Given the description of an element on the screen output the (x, y) to click on. 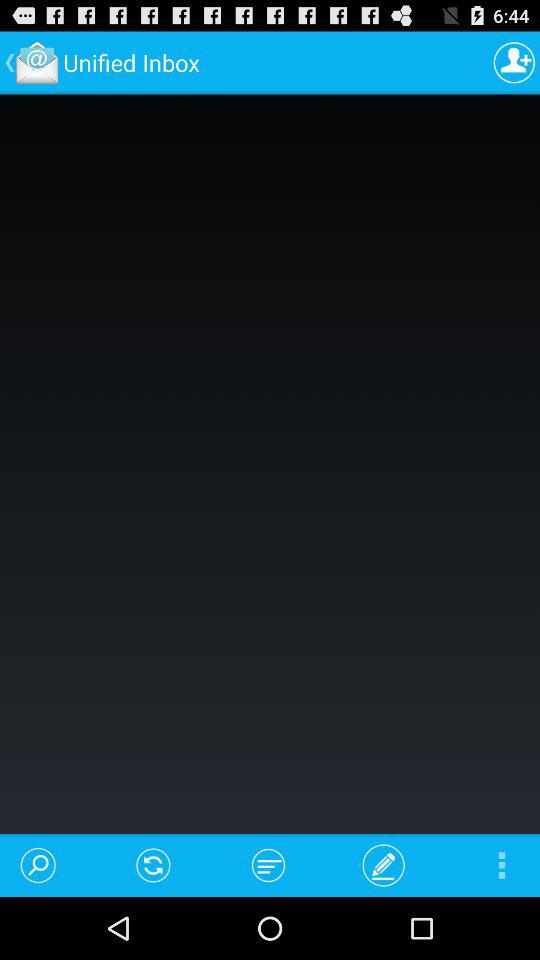
launch the icon below the unified inbox item (153, 864)
